Given the description of an element on the screen output the (x, y) to click on. 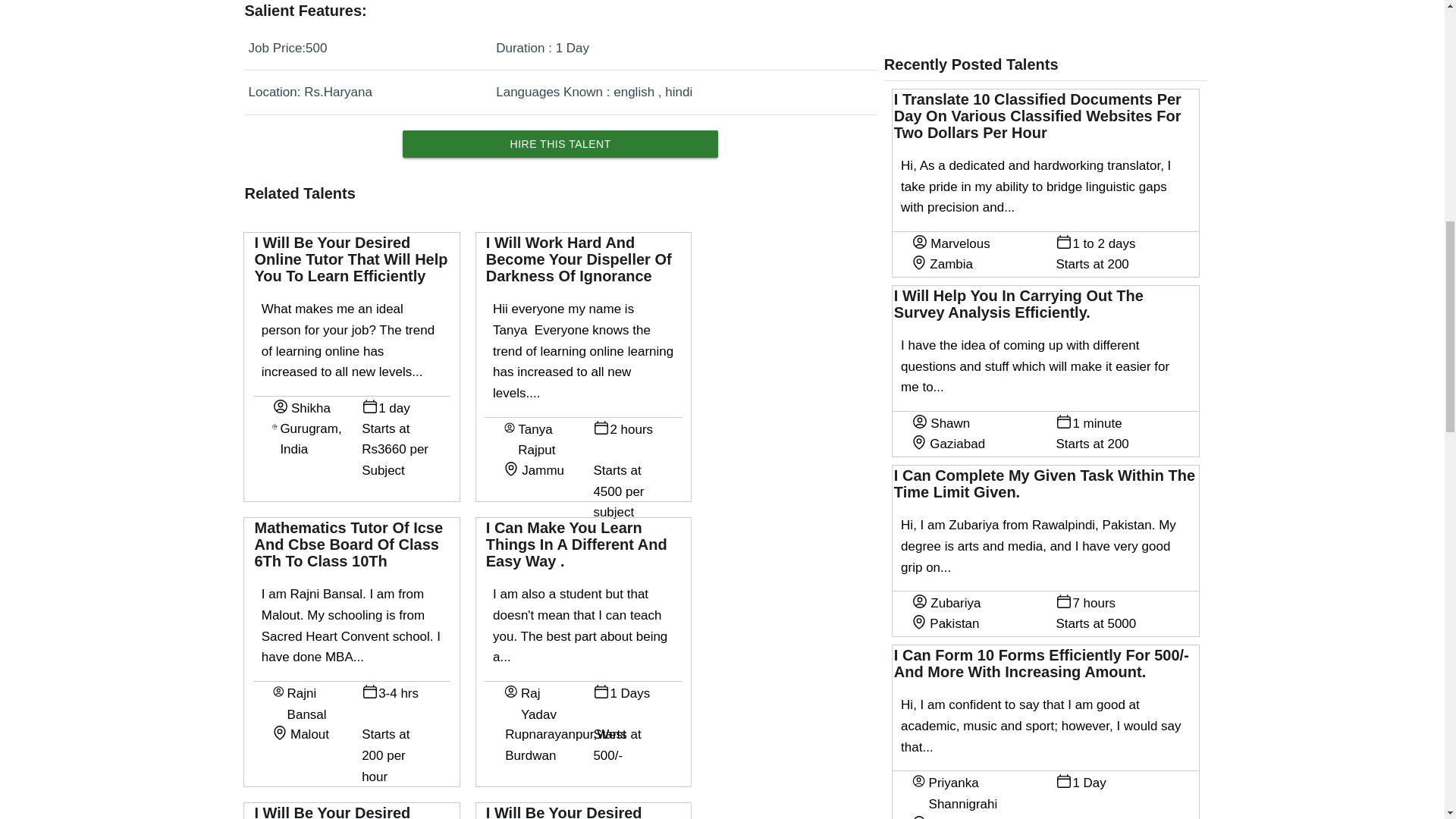
Advertisement (1037, 10)
